Given the description of an element on the screen output the (x, y) to click on. 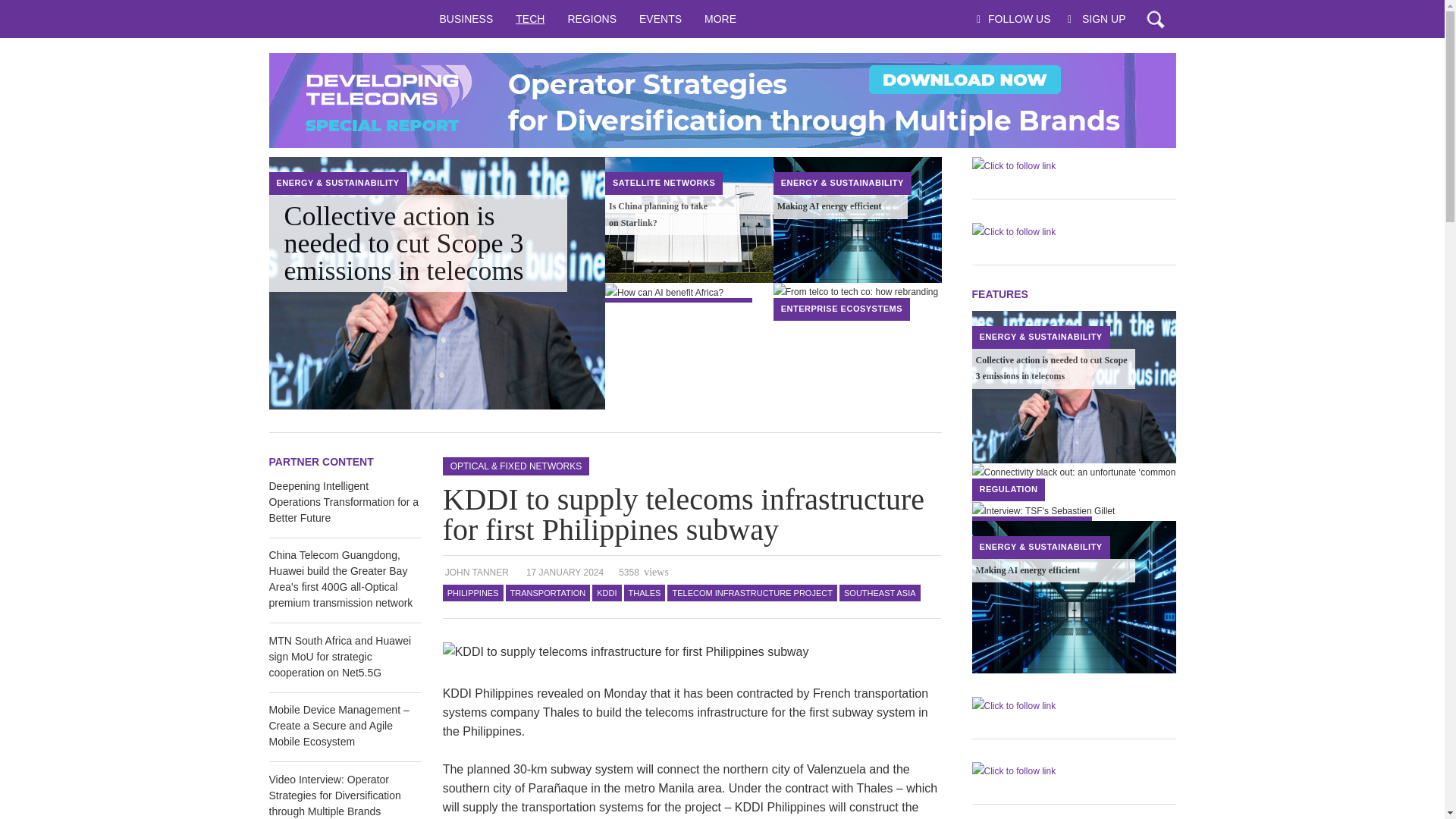
REGIONS (591, 18)
Click to follow link (720, 100)
TECH (529, 18)
BUSINESS (465, 18)
Satellite Networks (663, 182)
Developing Telecoms (347, 18)
